Given the description of an element on the screen output the (x, y) to click on. 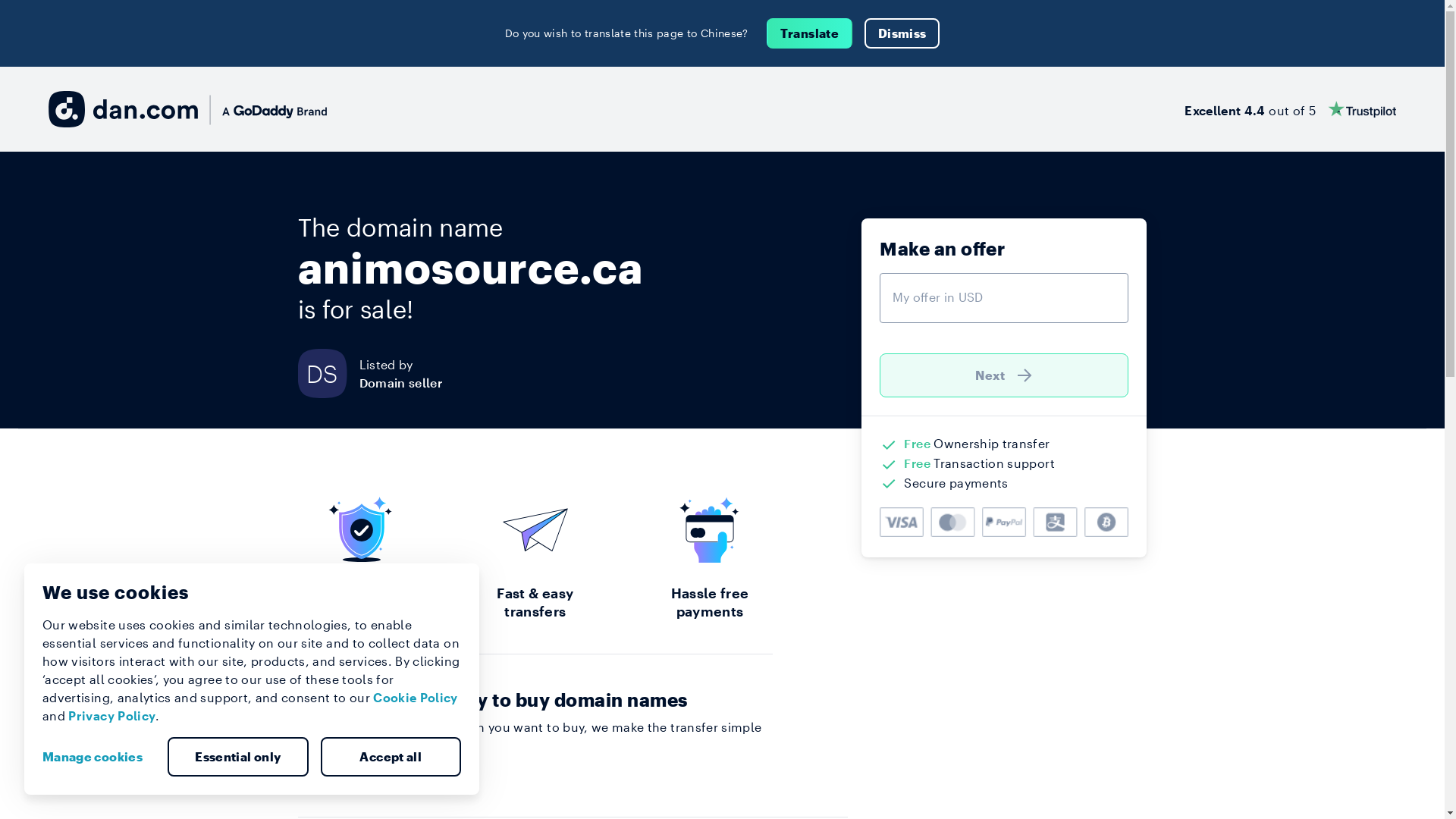
Manage cookies Element type: text (98, 756)
Excellent 4.4 out of 5 Element type: text (1290, 109)
Privacy Policy Element type: text (111, 715)
Dismiss Element type: text (901, 33)
Next
) Element type: text (1003, 375)
Cookie Policy Element type: text (415, 697)
Translate Element type: text (809, 33)
Essential only Element type: text (237, 756)
DS Element type: text (327, 373)
Accept all Element type: text (390, 756)
